Given the description of an element on the screen output the (x, y) to click on. 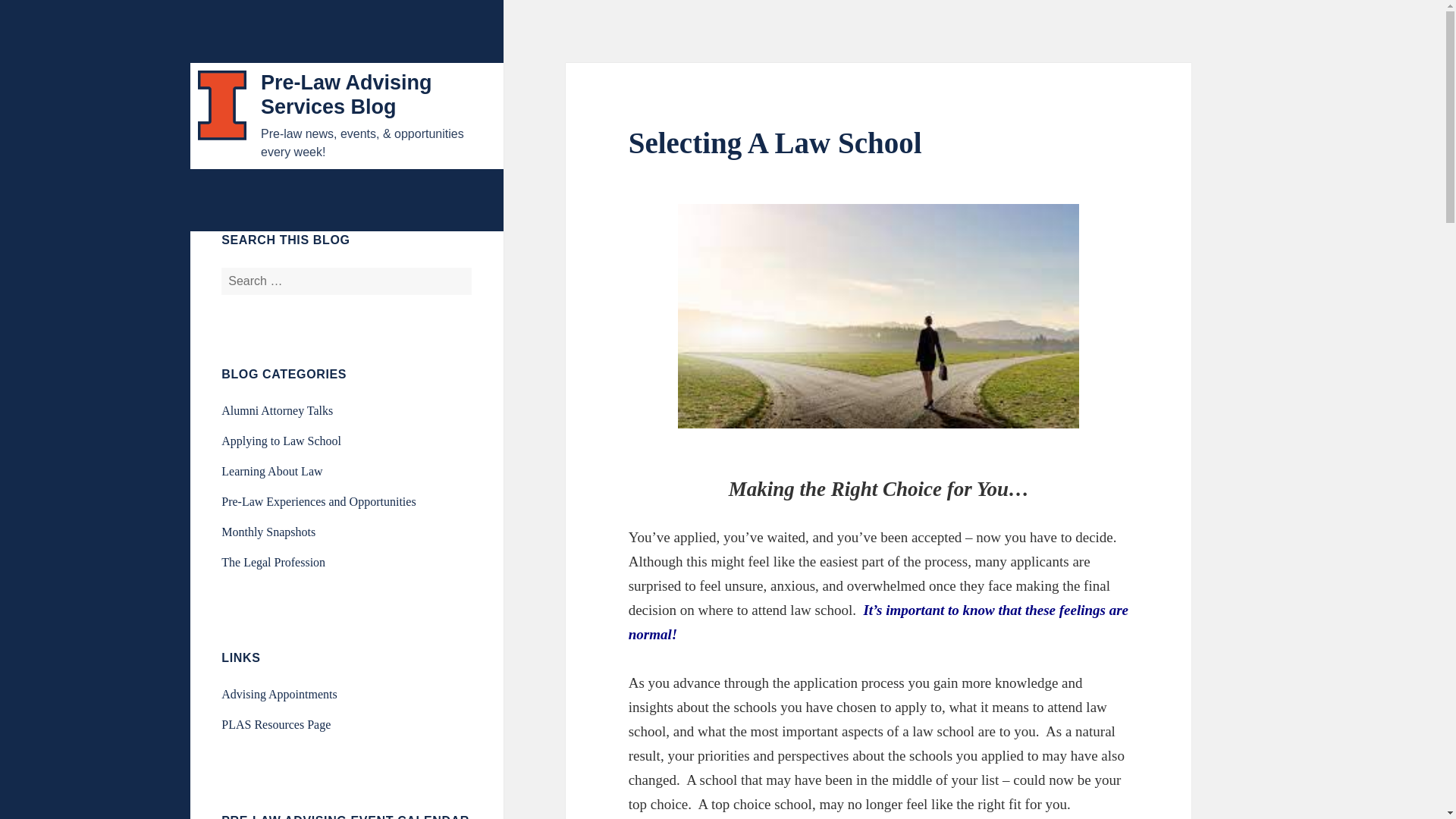
PLAS Resources Page (275, 724)
The Legal Profession (272, 562)
Monthly Snapshots (268, 531)
Applying to Law School (280, 440)
Learning About Law (271, 471)
Alumni Attorney Talks (277, 410)
Pre-Law Advising Services Blog (346, 94)
Pre-Law Experiences and Opportunities (317, 501)
Advising Appointments (278, 694)
